Given the description of an element on the screen output the (x, y) to click on. 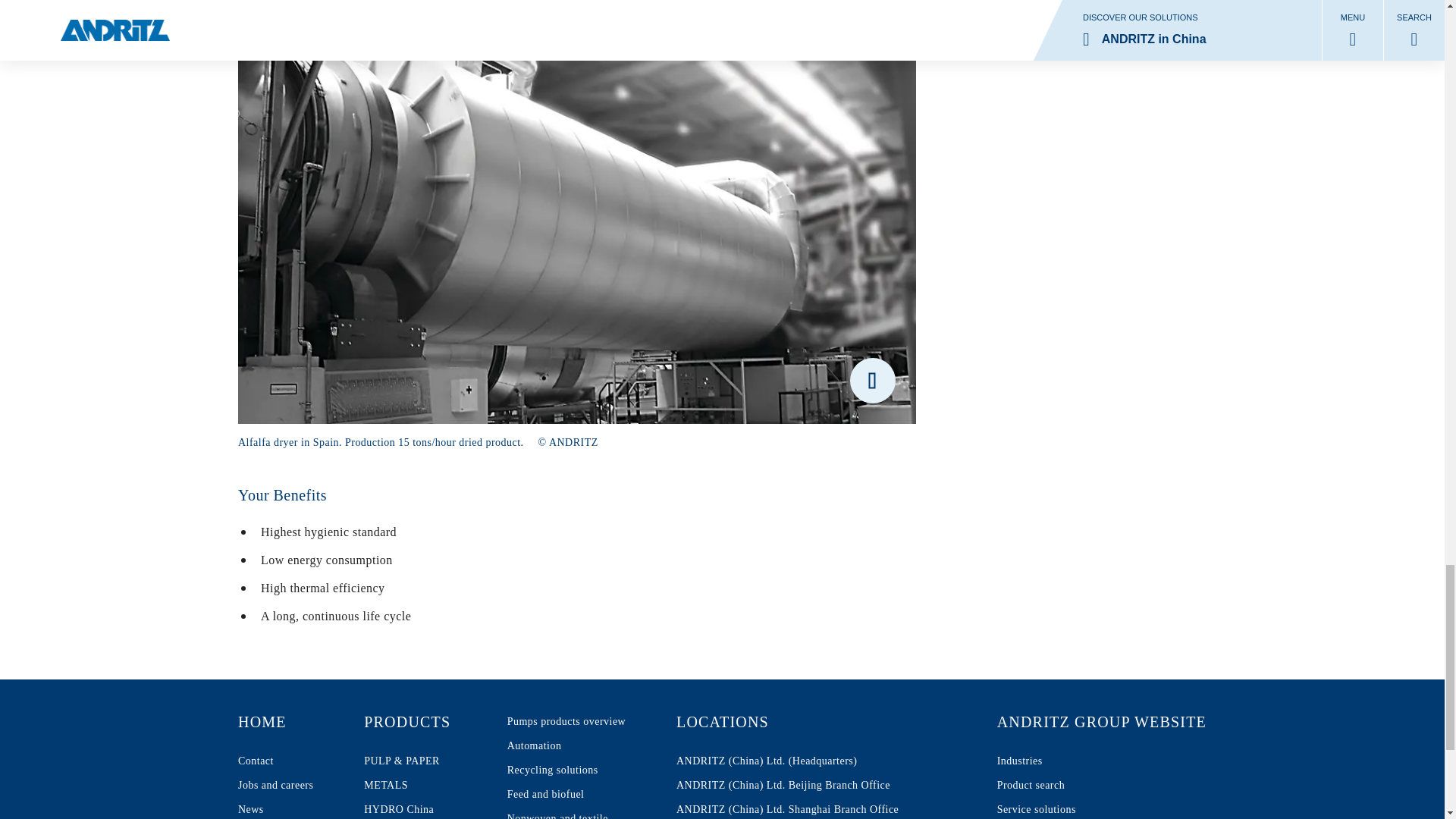
News (422, 808)
Recycling solutions (422, 785)
LOCATIONS (422, 721)
Nonwoven and textile (275, 808)
HOME (566, 770)
Pumps products overview (811, 721)
Feed and biofuel (275, 721)
Jobs and careers (566, 812)
METALS (275, 721)
